Given the description of an element on the screen output the (x, y) to click on. 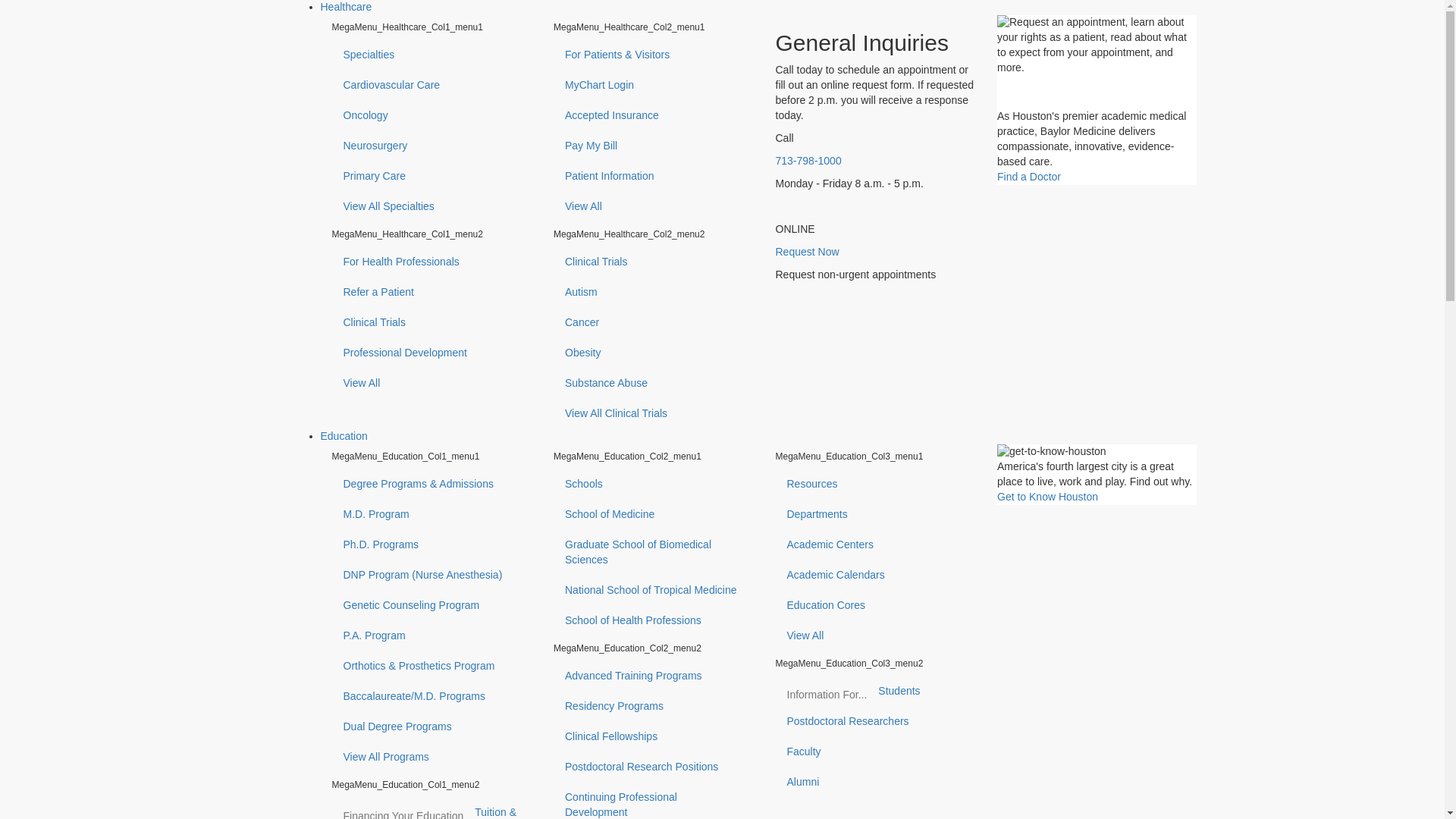
Demographics and Outcomes (387, 729)
P.A. Program (431, 635)
MyChart Login (652, 85)
Ph.D. Programs (431, 544)
Autism (652, 292)
View All Specialties (431, 206)
Find a Doctor (1029, 176)
Skip to main content (48, 6)
General Information (1096, 61)
Substance Abuse (652, 383)
Graduate School of Biomedical Sciences (609, 714)
For Health Professionals (431, 262)
Accepted Insurance (652, 115)
View All Programs (431, 757)
Dual Degree Programs (431, 726)
